Given the description of an element on the screen output the (x, y) to click on. 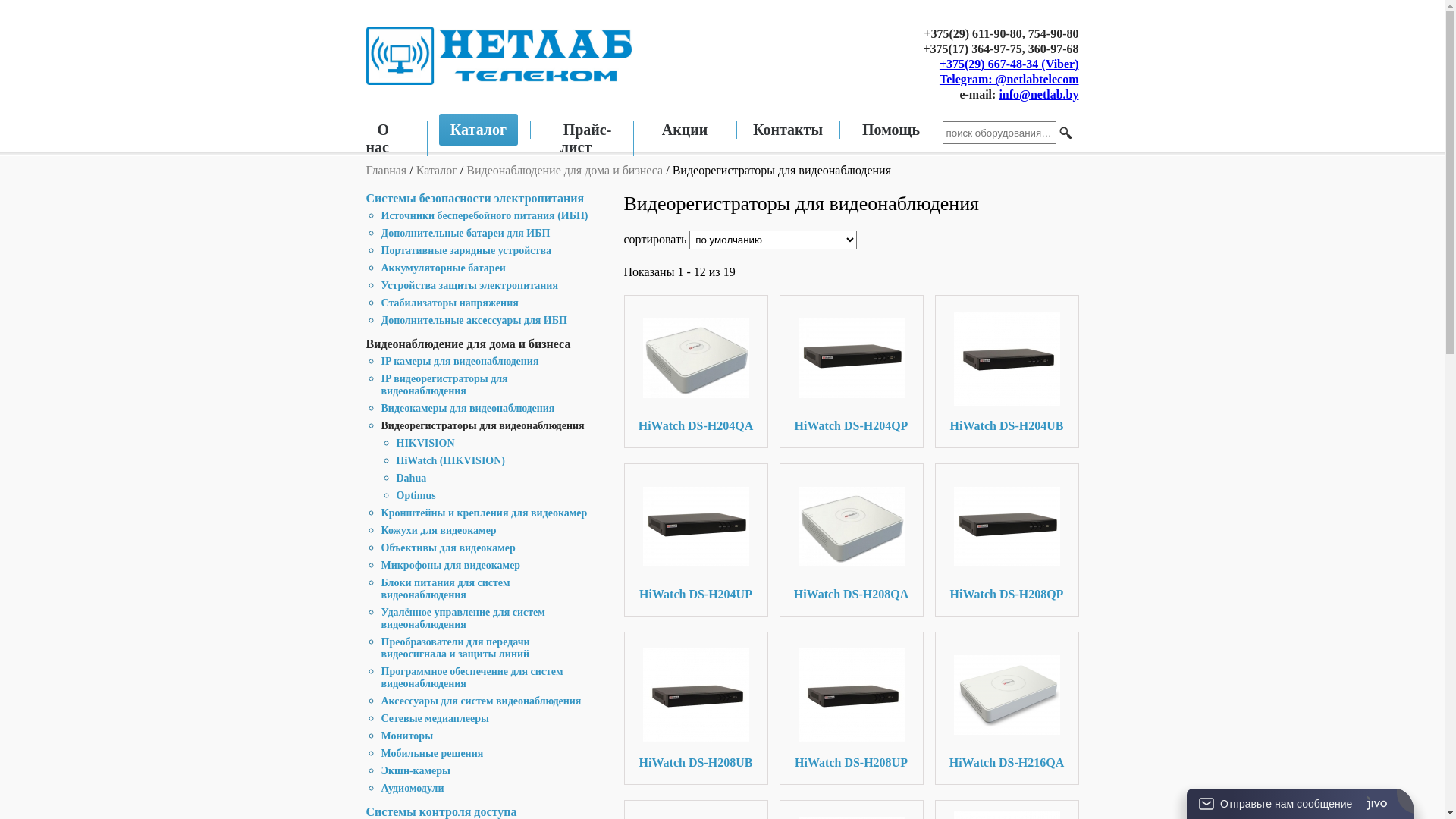
HiWatch DS-H208QA Element type: hover (850, 526)
HiWatch DS-H204UP Element type: hover (696, 526)
HiWatch DS-H204QP Element type: hover (850, 358)
HiWatch DS-H208QP Element type: hover (1006, 526)
HIKVISION Element type: text (424, 442)
HiWatch DS-H204UB Element type: hover (1006, 357)
HiWatch DS-H204UB Element type: hover (1006, 358)
HiWatch DS-H204UP Element type: hover (695, 526)
HiWatch DS-H208QP Element type: hover (1006, 526)
HiWatch DS-H216QA Element type: hover (1006, 694)
HiWatch DS-H208UB Element type: hover (696, 694)
Optimus Element type: text (415, 495)
HiWatch DS-H204QA Element type: hover (696, 358)
HiWatch DS-H208UP Element type: hover (850, 694)
HiWatch DS-H204UB Element type: text (1006, 425)
HiWatch DS-H204QP Element type: text (851, 425)
HiWatch DS-H216QA Element type: hover (1006, 694)
Telegram: @netlabtelecom Element type: text (1009, 78)
+375(29) 667-48-34 (Viber) Element type: text (1009, 63)
HiWatch DS-H208UB Element type: text (696, 762)
HiWatch DS-H204QP Element type: hover (850, 358)
Dahua Element type: text (410, 477)
HiWatch DS-H208UB Element type: hover (695, 694)
HiWatch DS-H208UP Element type: hover (850, 694)
HiWatch DS-H204QA Element type: hover (695, 358)
HiWatch DS-H204UP Element type: text (695, 594)
HiWatch DS-H208QP Element type: text (1006, 594)
HiWatch DS-H208QA Element type: text (851, 594)
HiWatch (HIKVISION) Element type: text (450, 460)
HiWatch DS-H216QA Element type: text (1006, 762)
HiWatch DS-H208UP Element type: text (850, 762)
info@netlab.by Element type: text (1038, 93)
HiWatch DS-H204QA Element type: text (695, 425)
HiWatch DS-H208QA Element type: hover (850, 526)
